Given the description of an element on the screen output the (x, y) to click on. 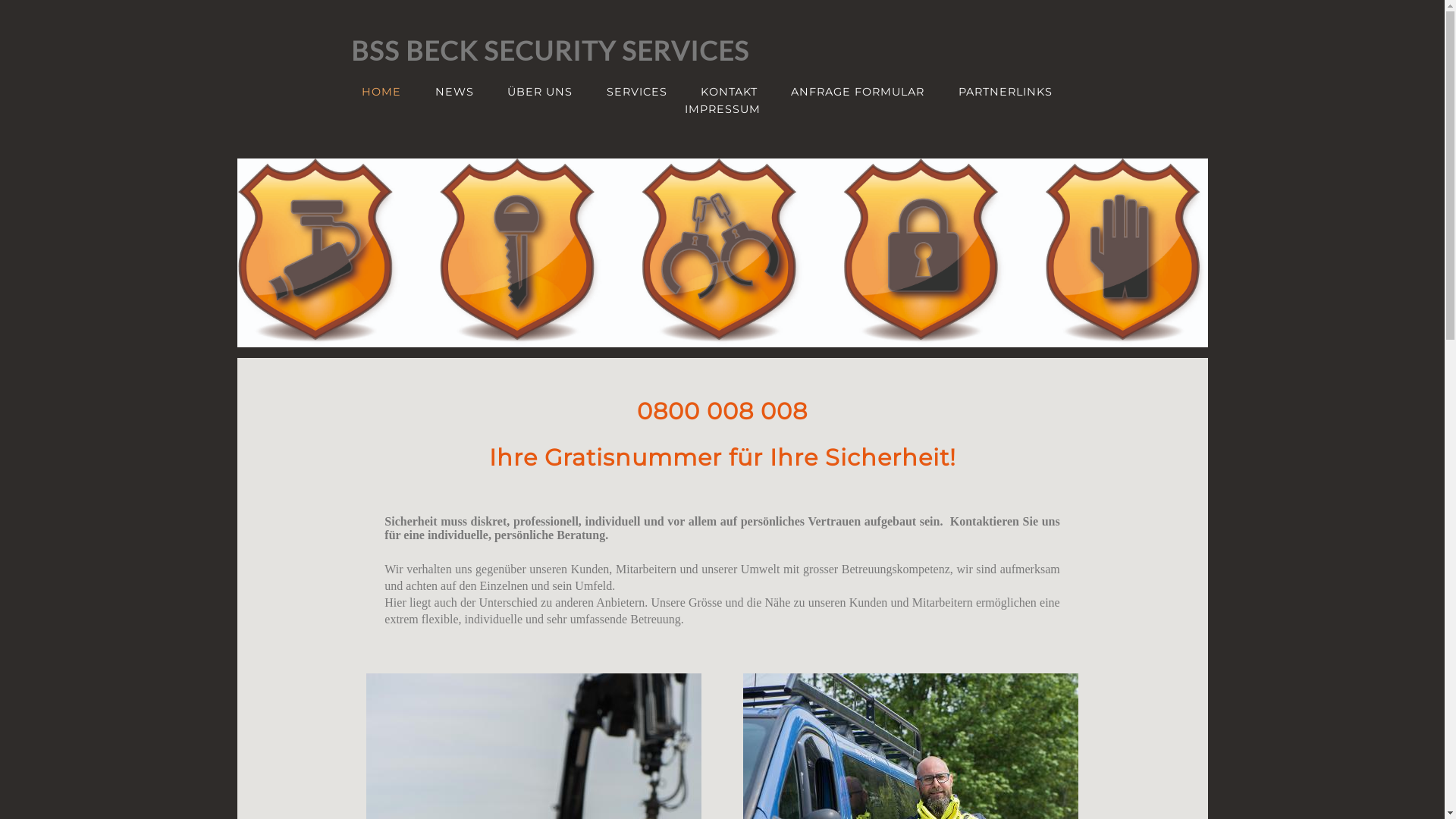
PARTNERLINKS Element type: text (1005, 91)
IMPRESSUM Element type: text (721, 109)
NEWS Element type: text (454, 91)
KONTAKT Element type: text (728, 91)
SERVICES Element type: text (636, 91)
ANFRAGE FORMULAR Element type: text (857, 91)
HOME Element type: text (381, 91)
BSS BECK SECURITY SERVICES Element type: text (550, 49)
